Given the description of an element on the screen output the (x, y) to click on. 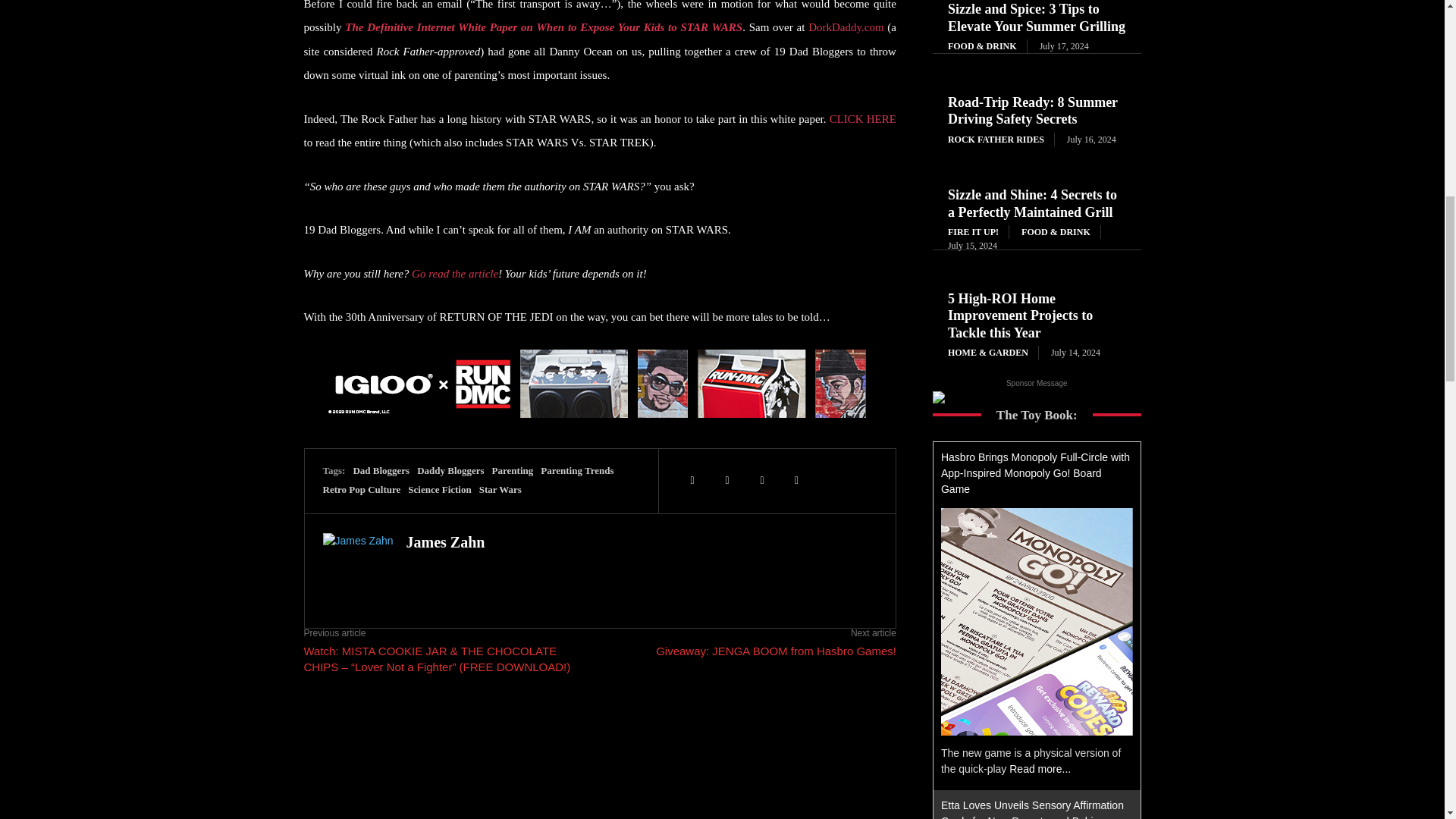
Twitter (692, 481)
